Given the description of an element on the screen output the (x, y) to click on. 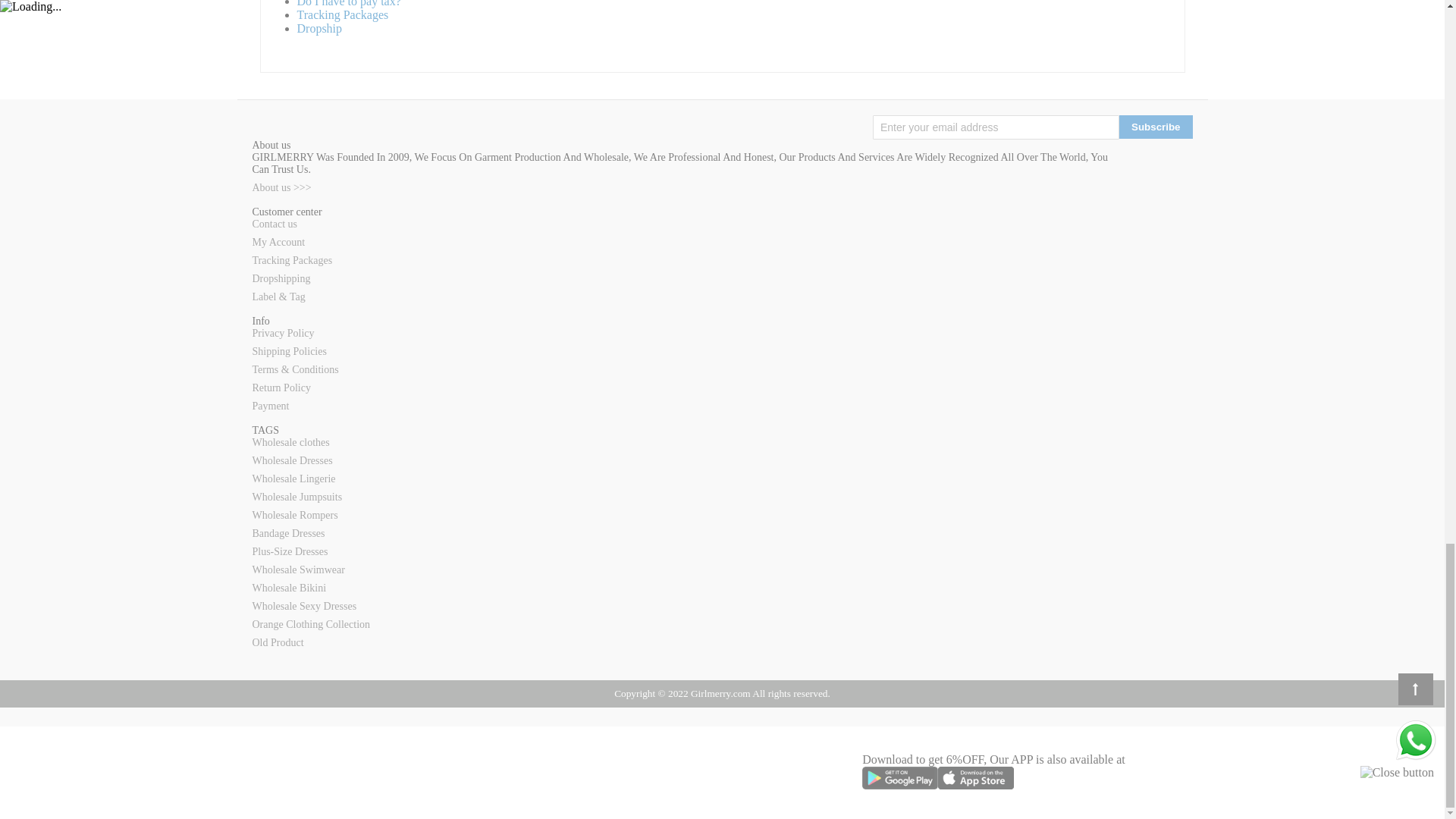
Subscribe (1155, 126)
